Given the description of an element on the screen output the (x, y) to click on. 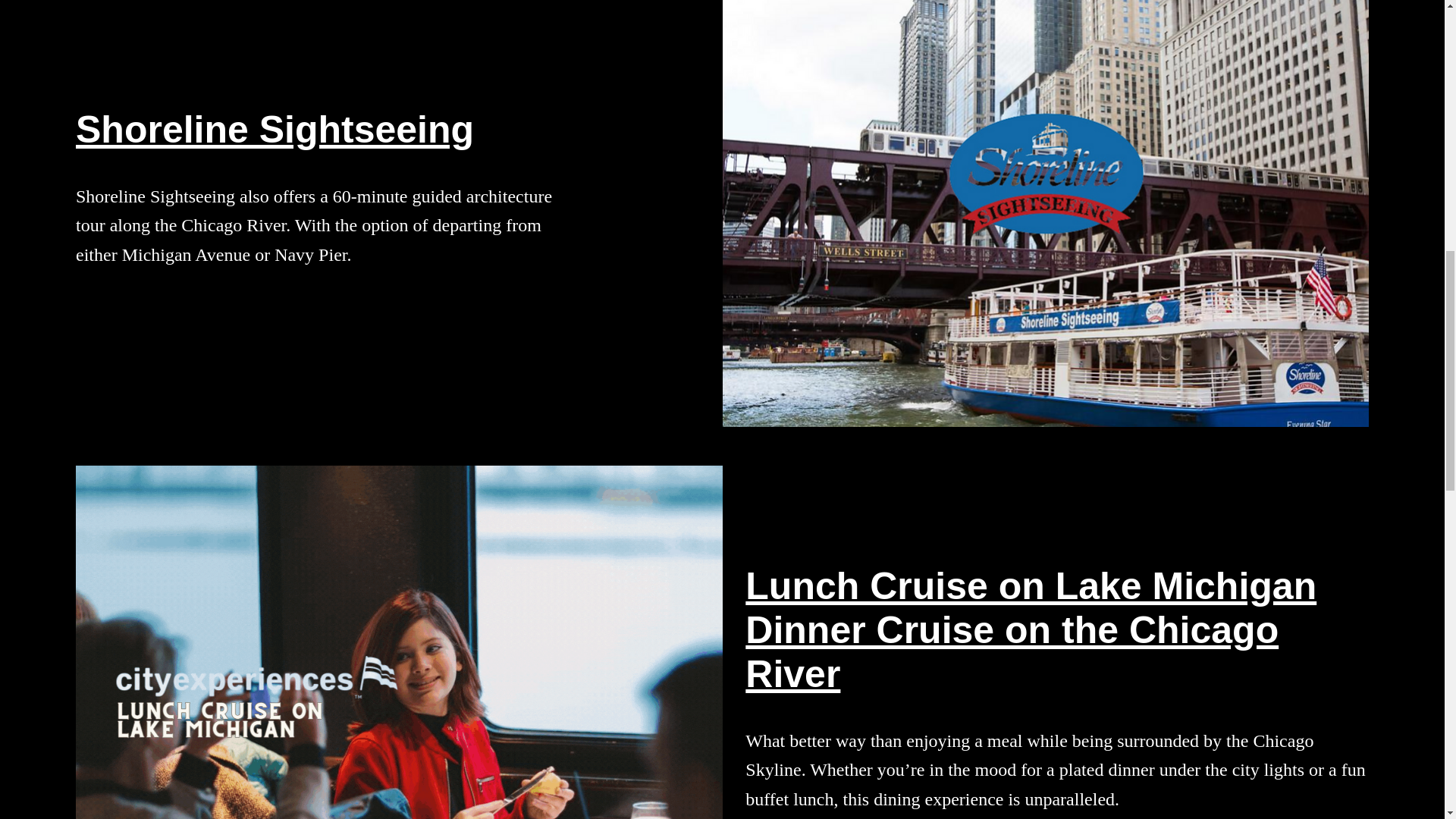
Shoreline Sightseeing (274, 129)
Lunch Cruise on Lake Michigan (1030, 586)
Dinner Cruise on the Chicago River (1011, 652)
